Given the description of an element on the screen output the (x, y) to click on. 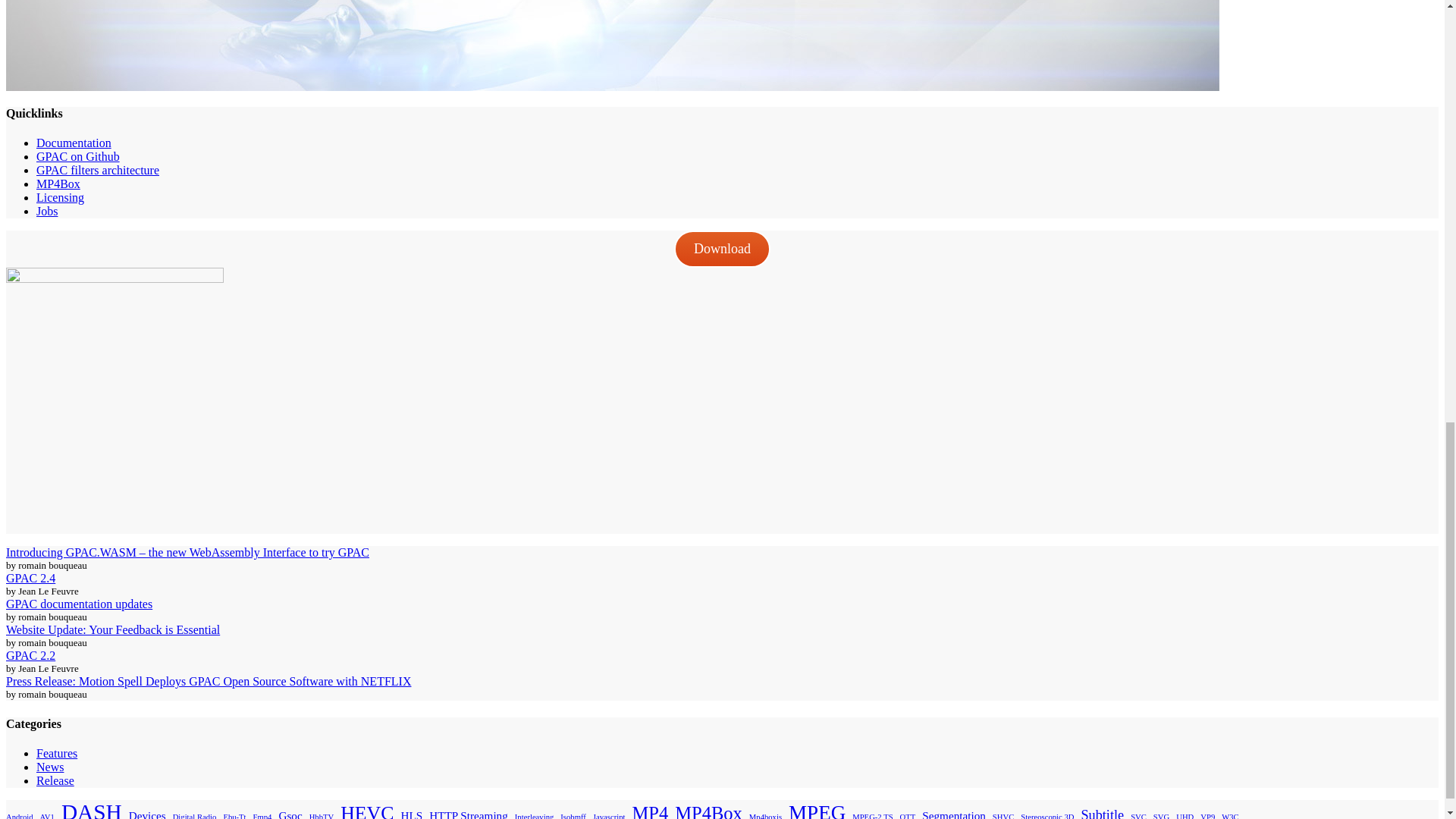
GPAC filters architecture (97, 169)
GPAC 2.2 (30, 655)
Download (722, 248)
News (50, 766)
Licensing (60, 196)
GPAC documentation updates (78, 603)
MP4Box (58, 183)
GPAC 2.4 (30, 577)
Features (56, 753)
